Given the description of an element on the screen output the (x, y) to click on. 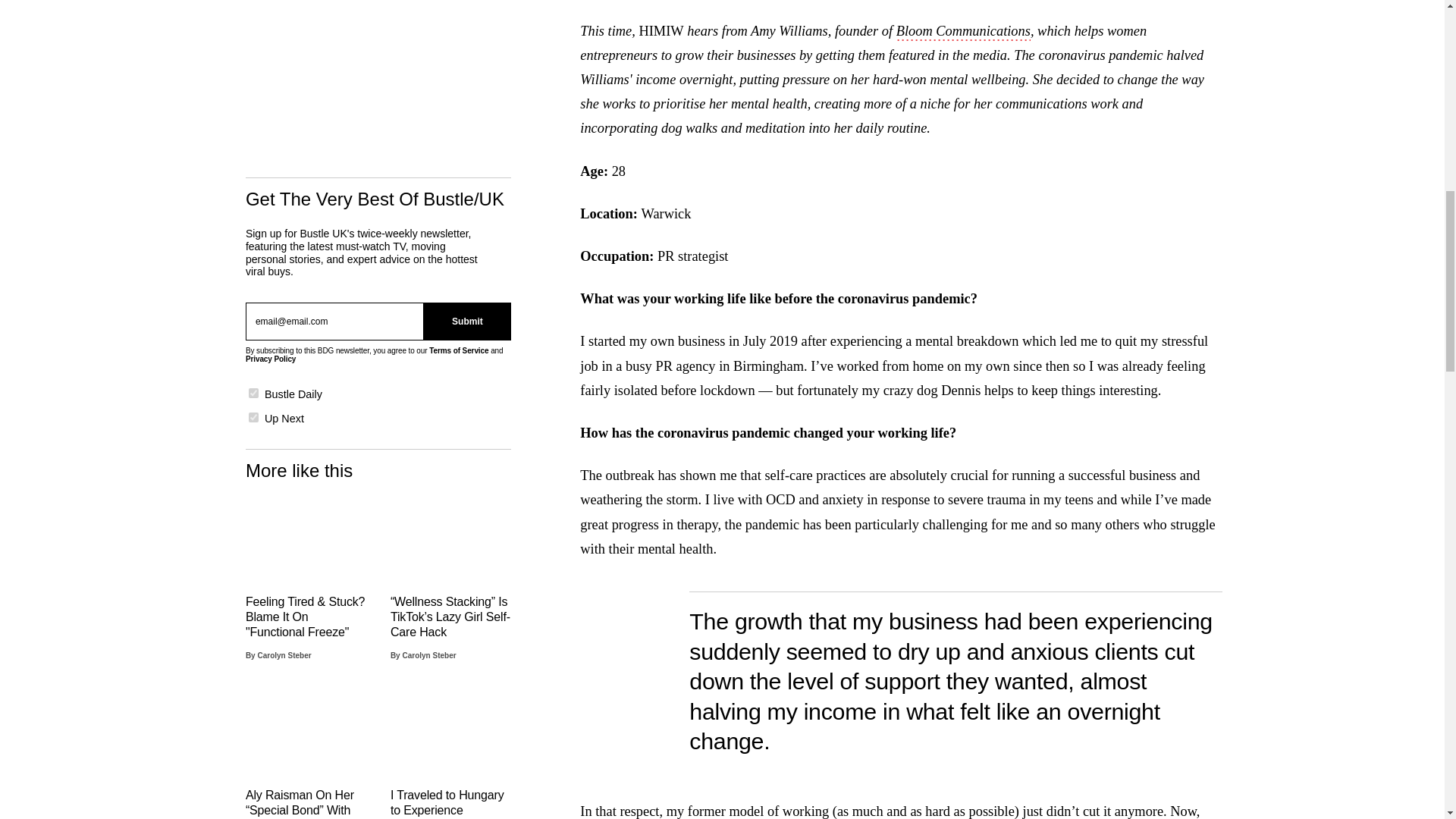
Privacy Policy (270, 356)
Terms of Service (458, 347)
Submit (467, 317)
Bloom Communications (963, 32)
